Given the description of an element on the screen output the (x, y) to click on. 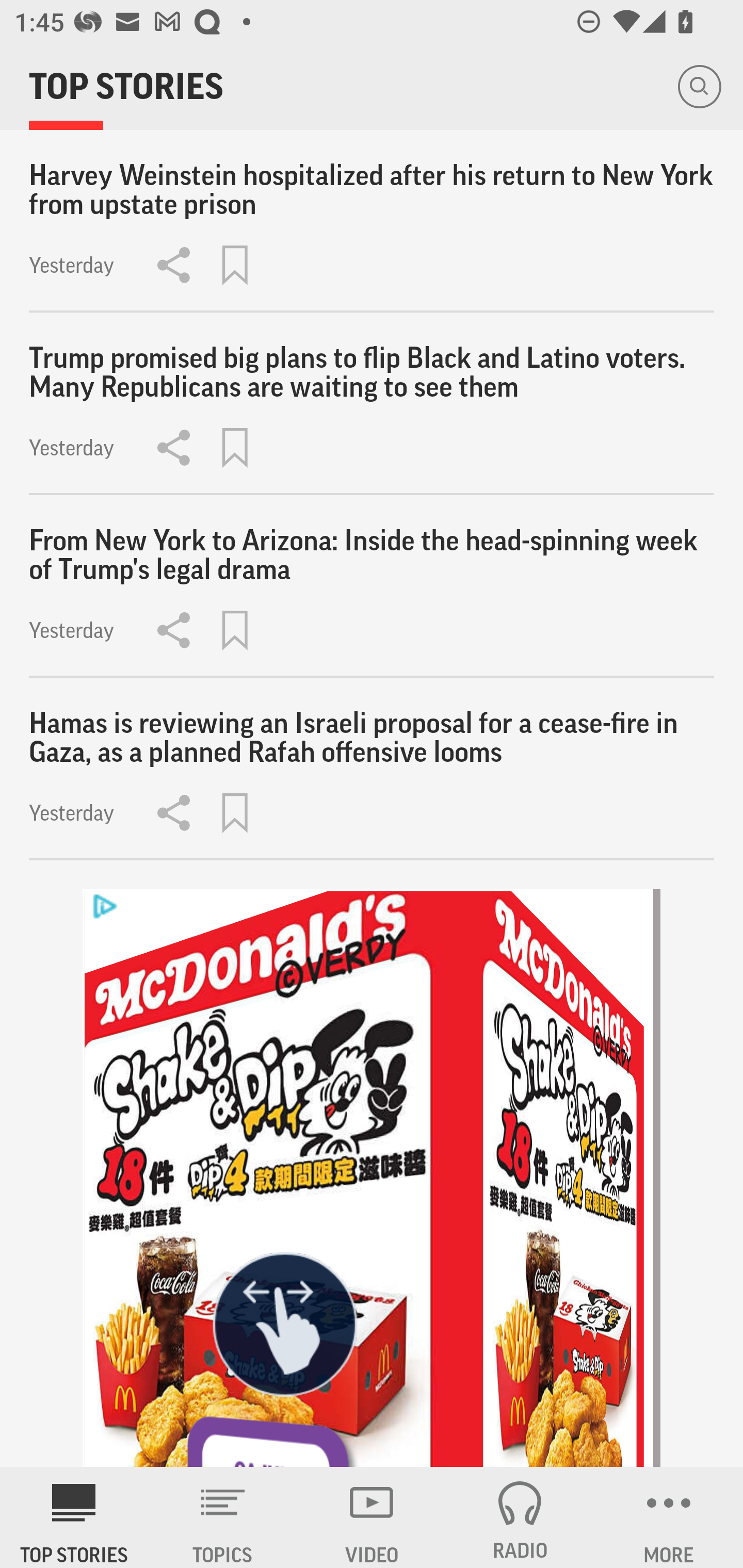
AP News TOP STORIES (74, 1517)
TOPICS (222, 1517)
VIDEO (371, 1517)
RADIO (519, 1517)
MORE (668, 1517)
